Given the description of an element on the screen output the (x, y) to click on. 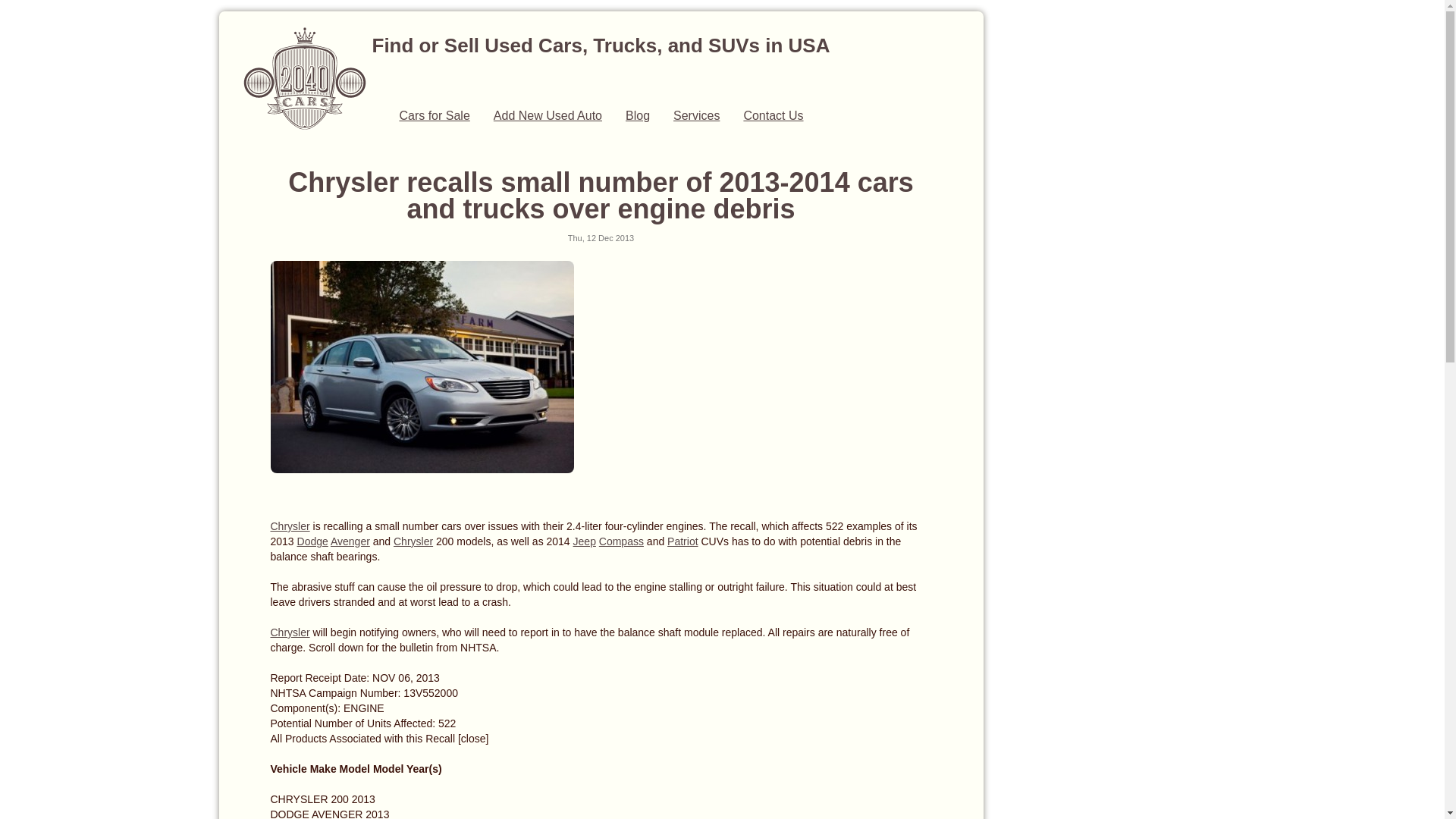
Chrysler Element type: text (413, 541)
Patriot Element type: text (682, 541)
Add New Used Auto Element type: text (547, 115)
Jeep Element type: text (584, 541)
Dodge Element type: text (312, 541)
Contact Us Element type: text (773, 115)
Blog Element type: text (637, 115)
Compass Element type: text (621, 541)
Chrysler Element type: text (289, 526)
Services Element type: text (696, 115)
Avenger Element type: text (350, 541)
Cars for Sale Element type: text (433, 115)
Chrysler Element type: text (289, 632)
